Given the description of an element on the screen output the (x, y) to click on. 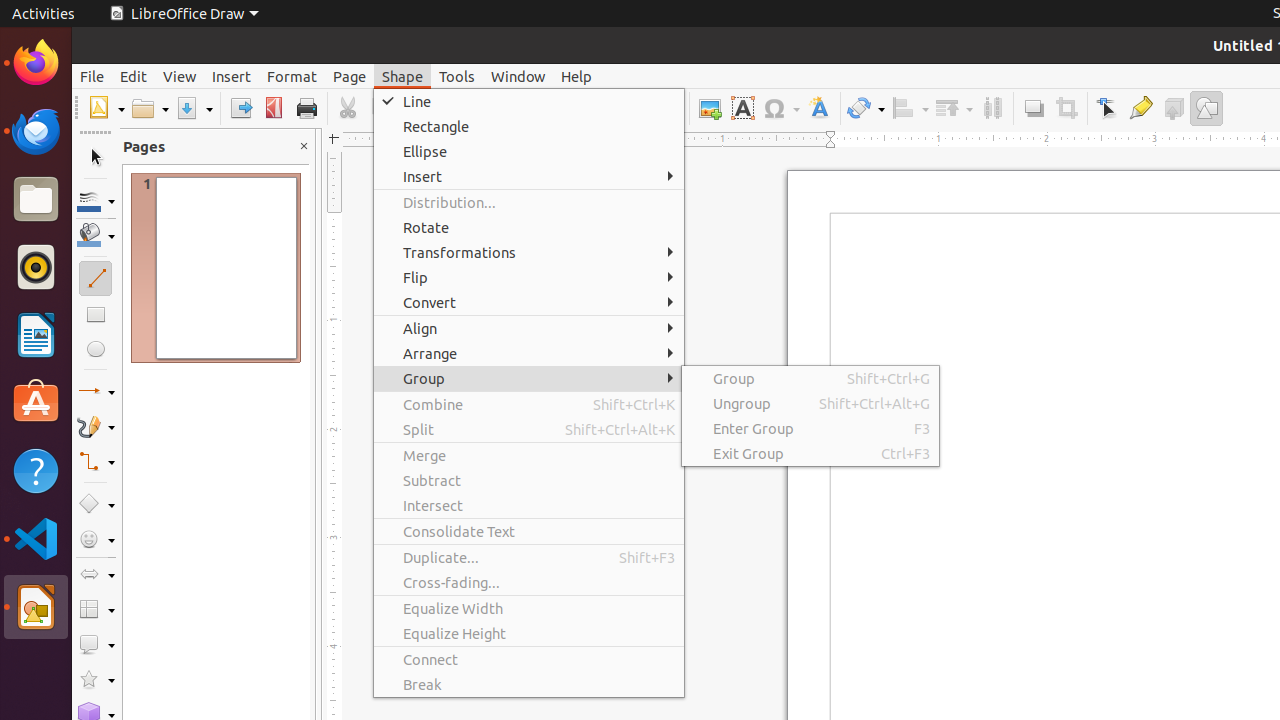
Close Pane Element type: push-button (303, 146)
